Given the description of an element on the screen output the (x, y) to click on. 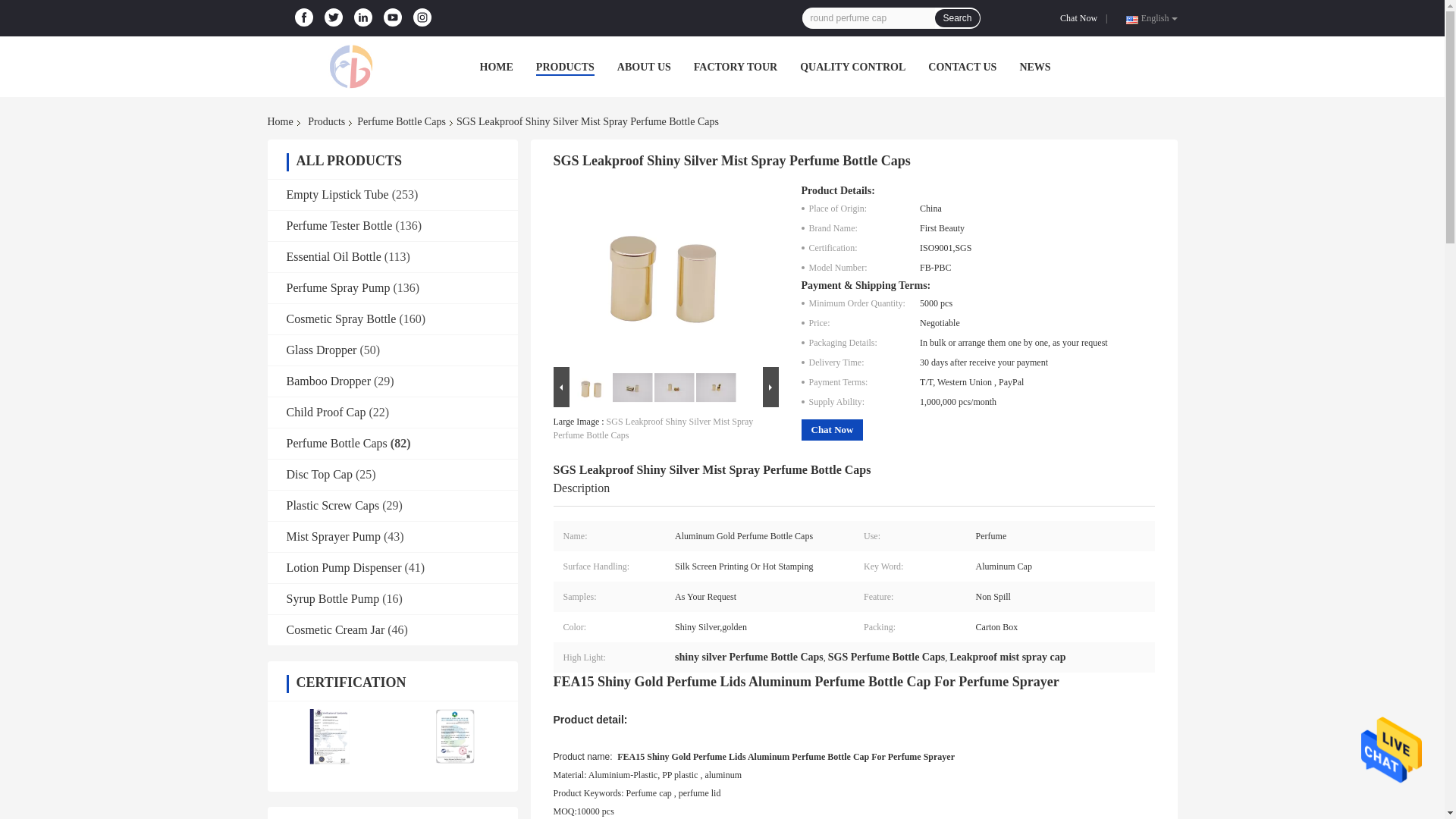
Home (282, 121)
Search (956, 18)
Jiangyin First Beauty Packing Industry Co.,ltd Instagram (421, 17)
Jiangyin First Beauty Packing Industry Co.,ltd Twitter (333, 17)
PRODUCTS (564, 66)
Chat Now (1081, 18)
Jiangyin First Beauty Packing Industry Co.,ltd LinkedIn (362, 17)
Jiangyin First Beauty Packing Industry Co.,ltd Facebook (303, 17)
Products (325, 121)
HOME (495, 66)
ABOUT US (644, 66)
CONTACT US (961, 66)
Perfume Bottle Caps (400, 121)
FACTORY TOUR (735, 66)
Jiangyin First Beauty Packing Industry Co.,ltd YouTube (392, 17)
